Given the description of an element on the screen output the (x, y) to click on. 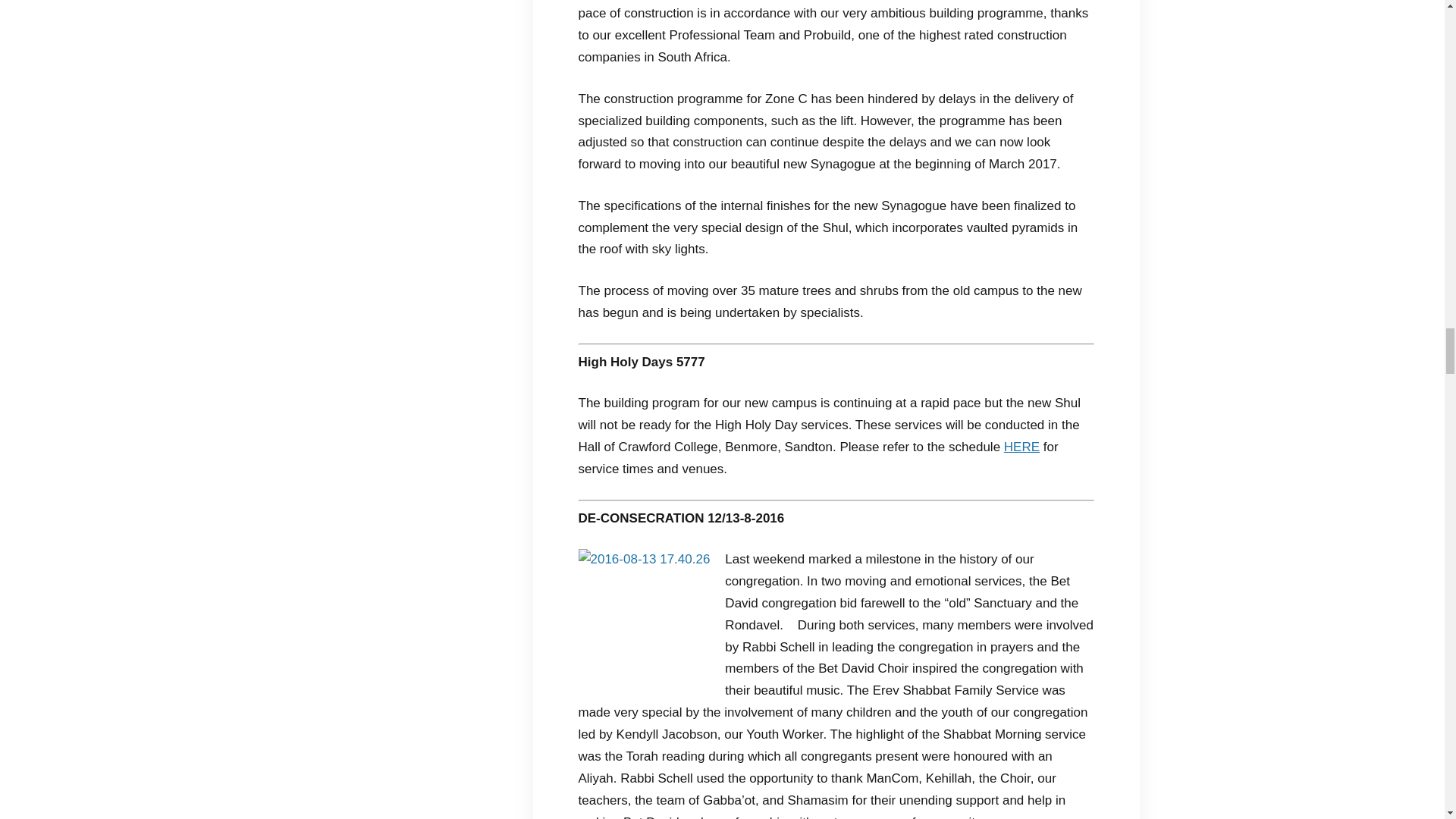
HERE (1021, 446)
